Given the description of an element on the screen output the (x, y) to click on. 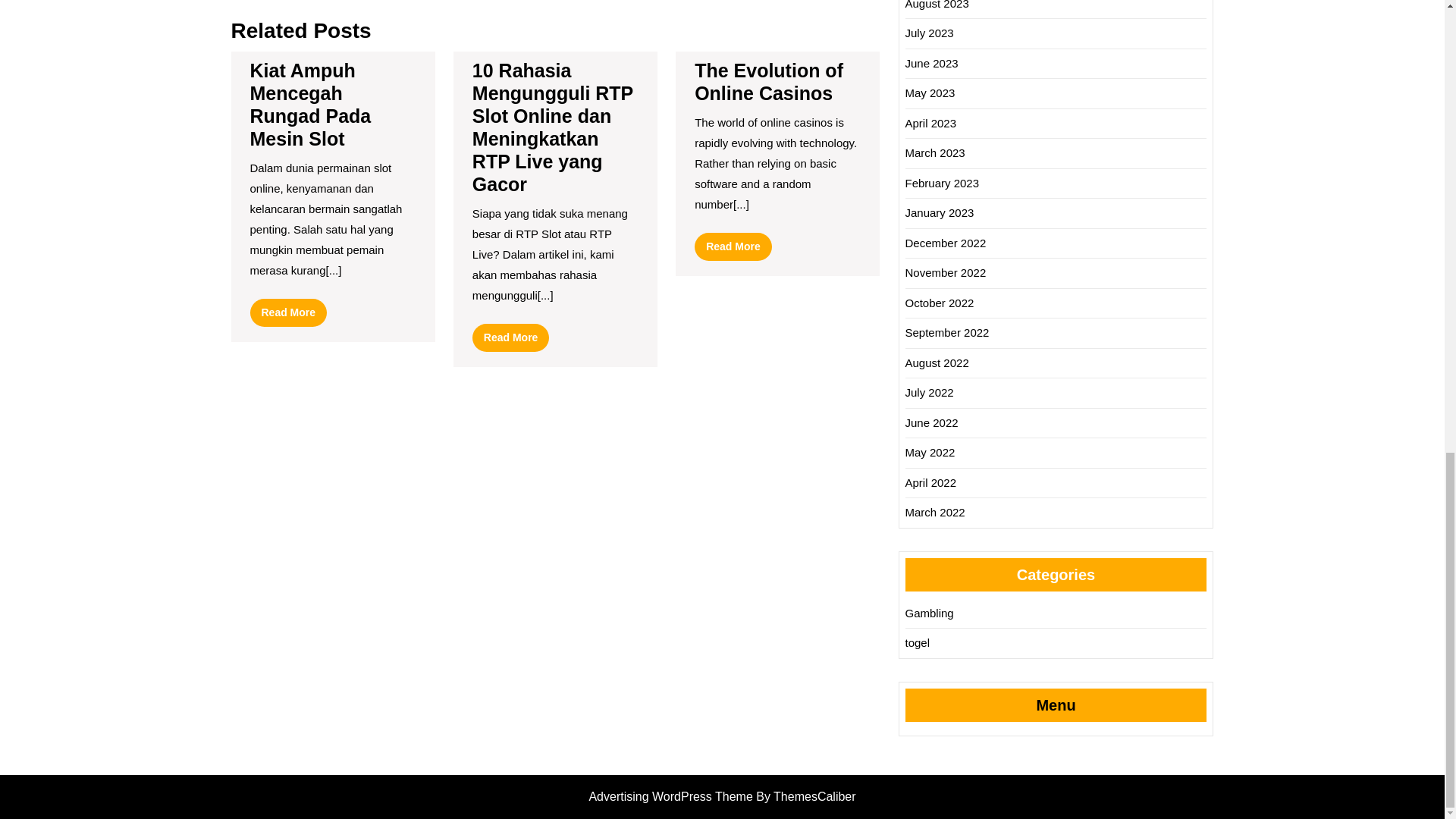
June 2023 (931, 62)
Kiat Ampuh Mencegah Rungad Pada Mesin Slot (310, 104)
The Evolution of Online Casinos (288, 312)
August 2023 (768, 81)
July 2023 (732, 246)
